Given the description of an element on the screen output the (x, y) to click on. 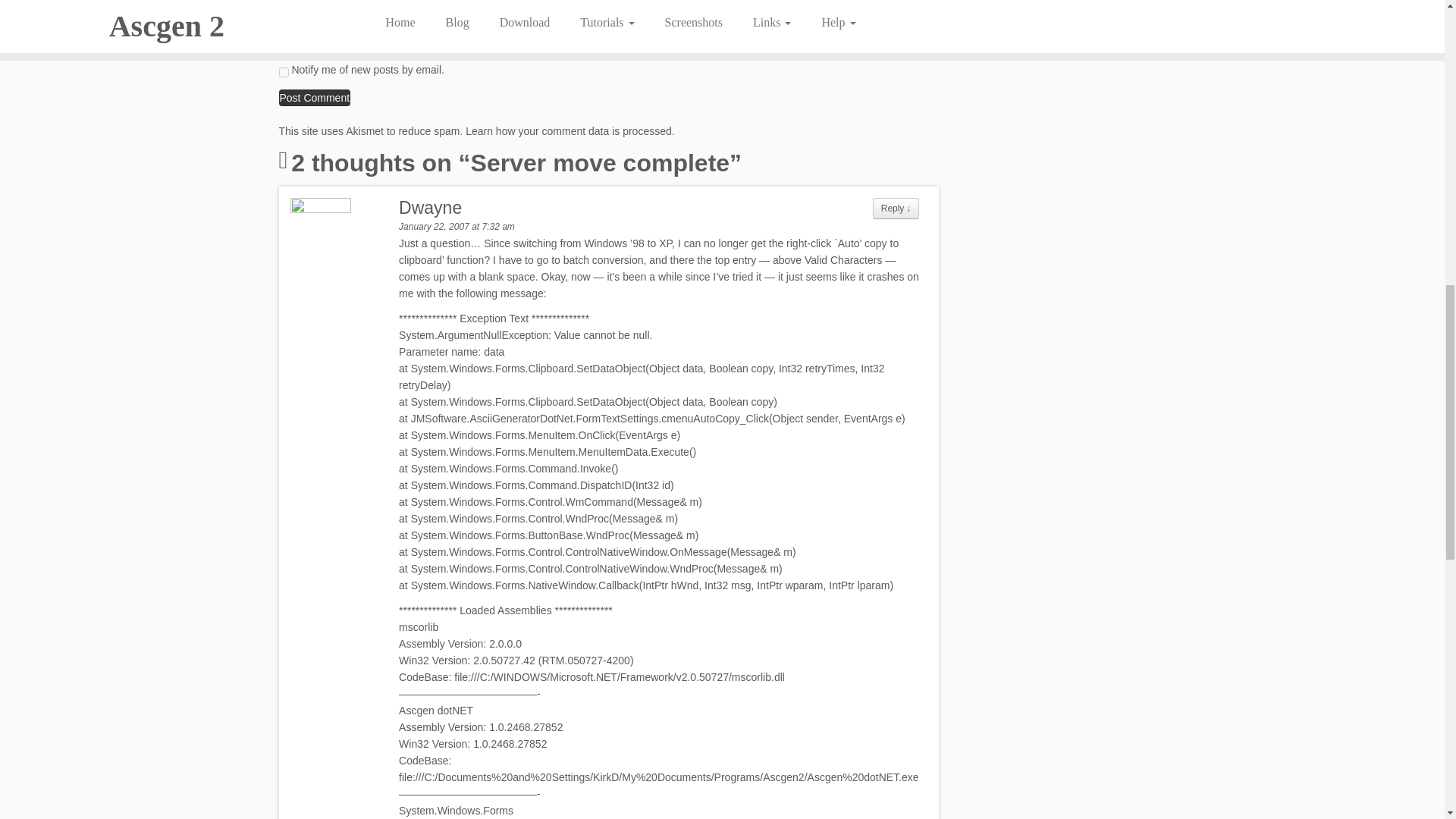
subscribe (283, 71)
Post Comment (314, 97)
subscribe (283, 44)
Post Comment (314, 97)
January 22, 2007 at 7:32 am (456, 226)
Learn how your comment data is processed (568, 131)
